Given the description of an element on the screen output the (x, y) to click on. 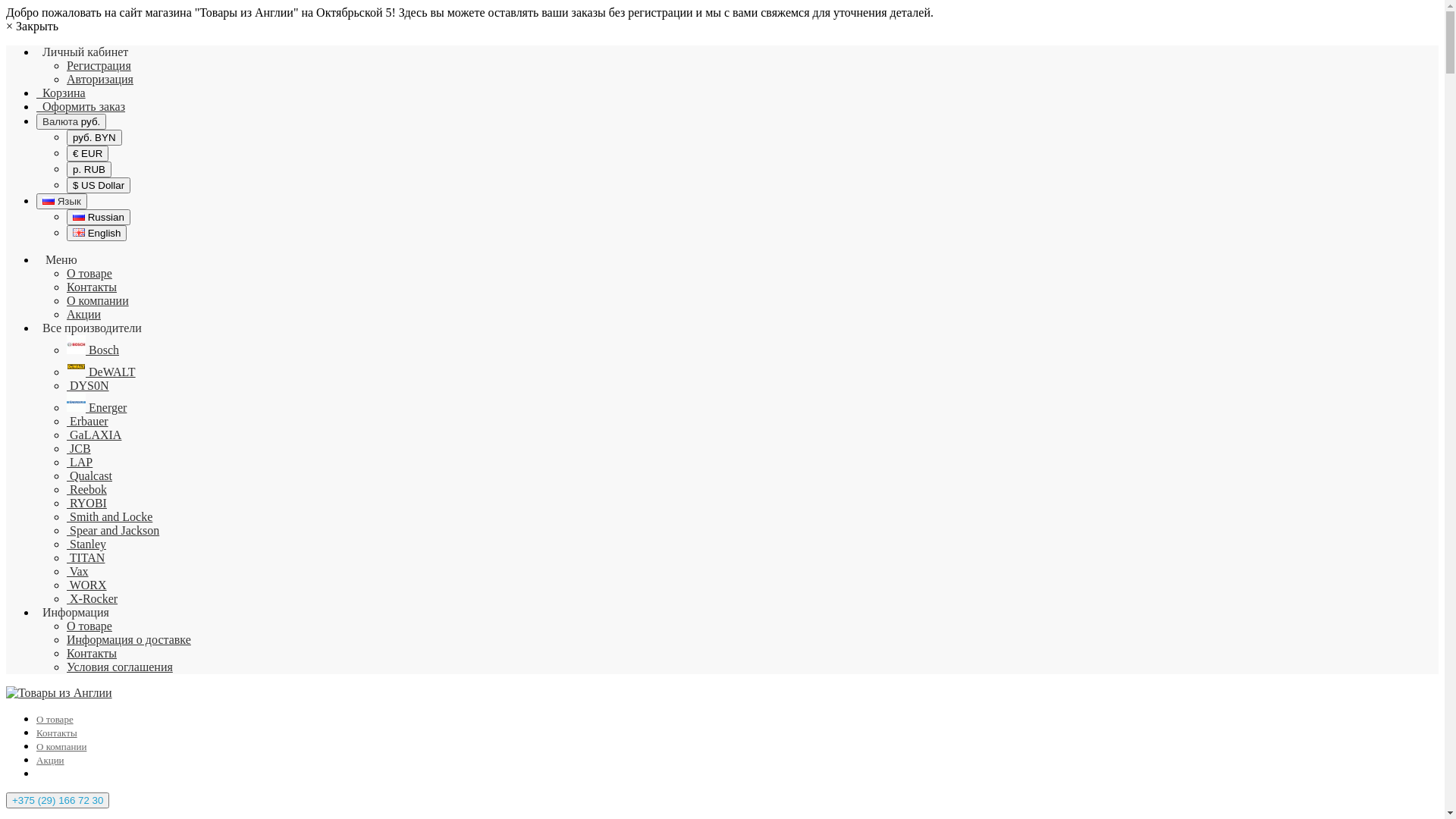
DeWALT Element type: text (100, 371)
Vax Element type: text (77, 570)
Erbauer Element type: text (87, 420)
Energer Element type: text (96, 407)
GaLAXIA Element type: text (93, 434)
English Element type: text (96, 233)
$ US Dollar Element type: text (98, 185)
Stanley Element type: text (86, 543)
JCB Element type: text (78, 448)
Russian Element type: hover (48, 200)
Reebok Element type: text (86, 489)
Russian Element type: text (98, 217)
DYS0N Element type: text (87, 385)
TITAN Element type: text (85, 557)
X-Rocker Element type: text (91, 598)
English Element type: hover (78, 232)
+375 (29) 166 72 30 Element type: text (57, 800)
Qualcast Element type: text (89, 475)
LAP Element type: text (79, 461)
Russian Element type: hover (78, 216)
WORX Element type: text (86, 584)
Spear and Jackson Element type: text (112, 530)
RYOBI Element type: text (86, 502)
Smith and Locke Element type: text (109, 516)
Bosch Element type: text (92, 349)
